Given the description of an element on the screen output the (x, y) to click on. 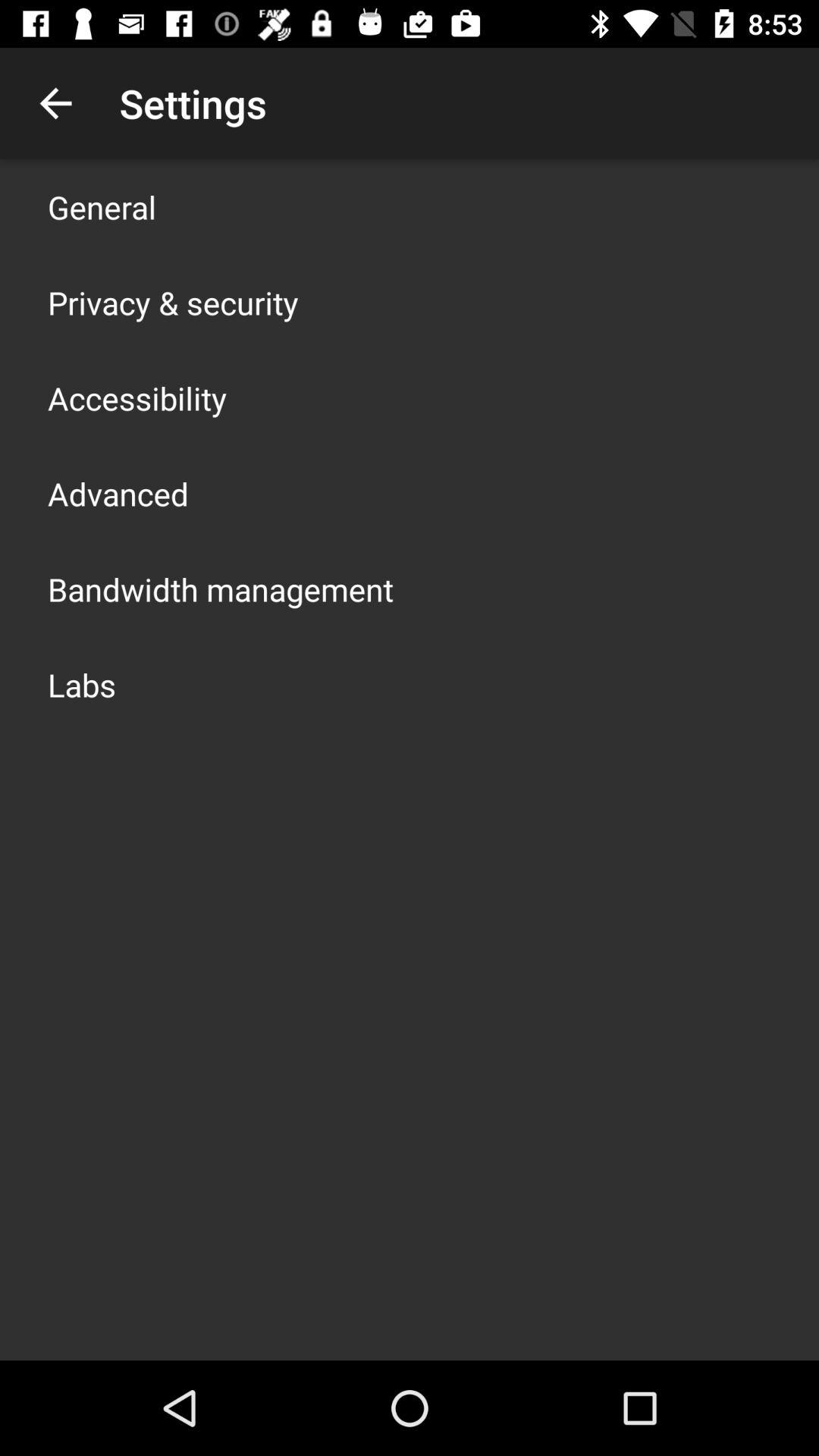
swipe to labs item (81, 684)
